Given the description of an element on the screen output the (x, y) to click on. 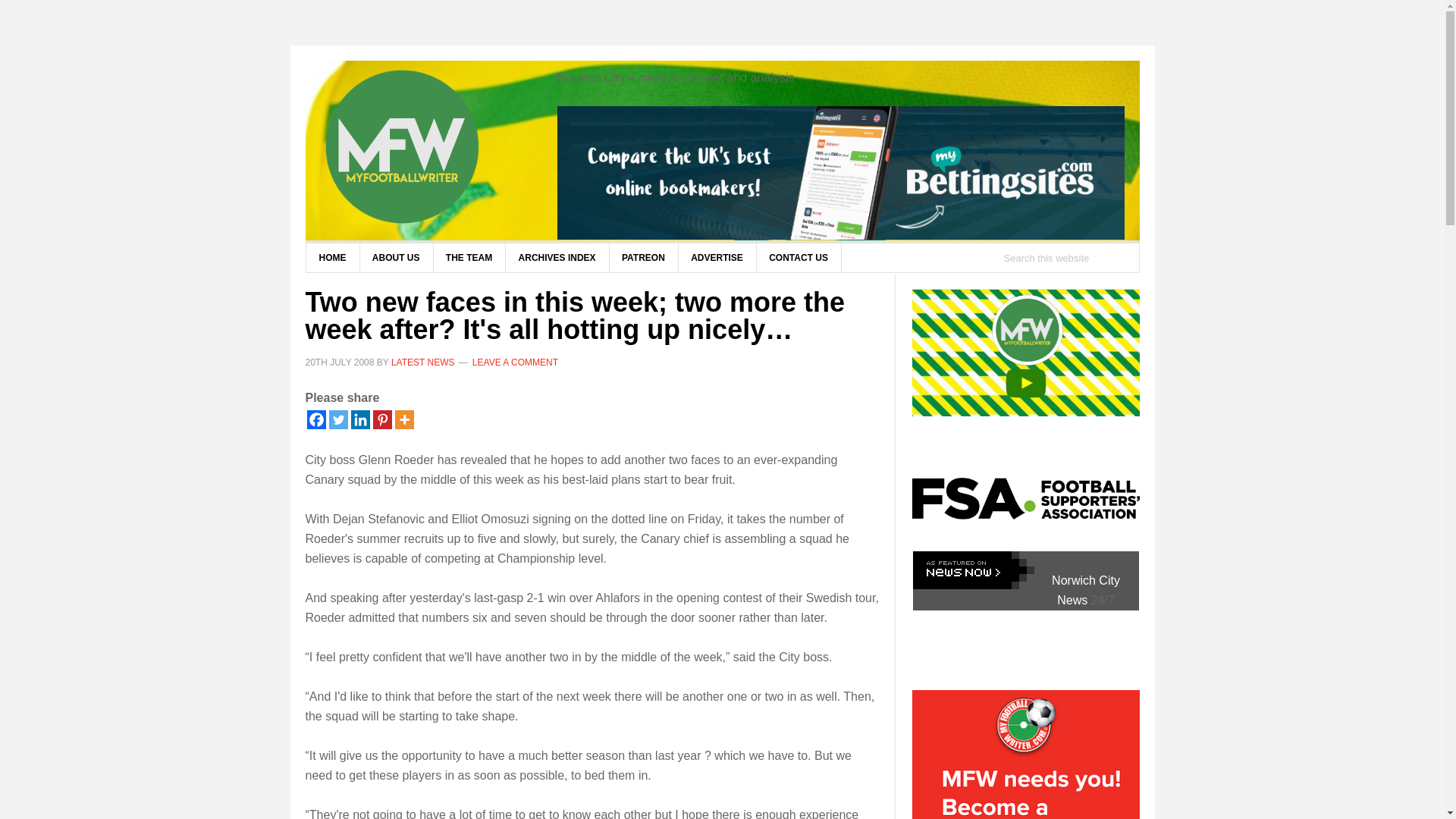
PATREON (643, 257)
Twitter (338, 419)
Norwich City News (1085, 590)
MY FOOTBALL WRITER (426, 147)
ARCHIVES INDEX (557, 257)
ADVERTISE (717, 257)
THE TEAM (468, 257)
LEAVE A COMMENT (514, 361)
CONTACT US (798, 257)
Facebook (314, 419)
More (403, 419)
LATEST NEWS (422, 361)
Pinterest (381, 419)
Linkedin (359, 419)
